Given the description of an element on the screen output the (x, y) to click on. 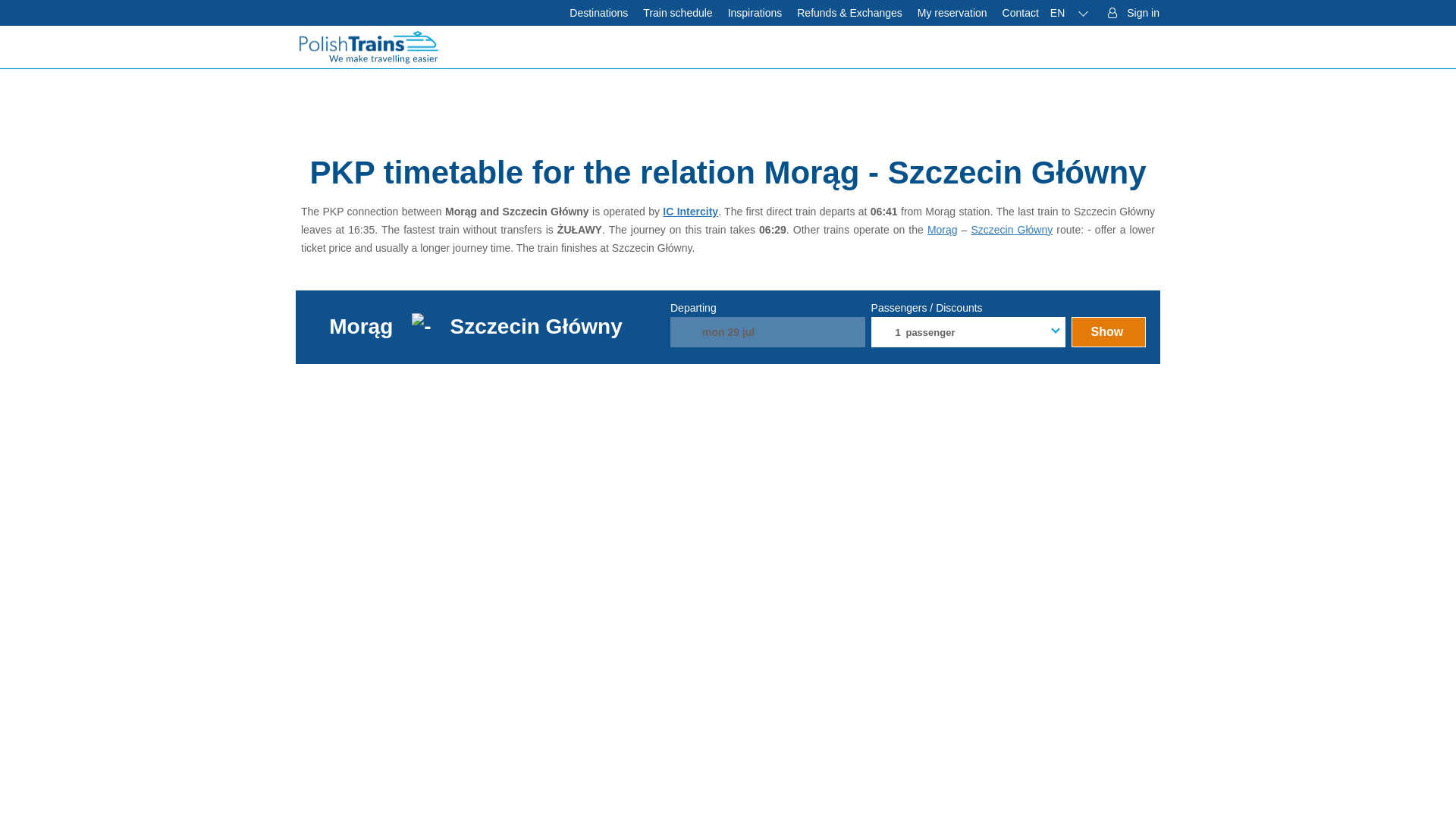
My reservation (952, 12)
Mon 29 Jul (766, 331)
Destinations (598, 12)
Sign in (1132, 12)
PolishTrains - Train tickets in Europe (368, 46)
Inspirations (755, 12)
Train schedule (676, 12)
Contact (1020, 12)
EN (1069, 12)
